Given the description of an element on the screen output the (x, y) to click on. 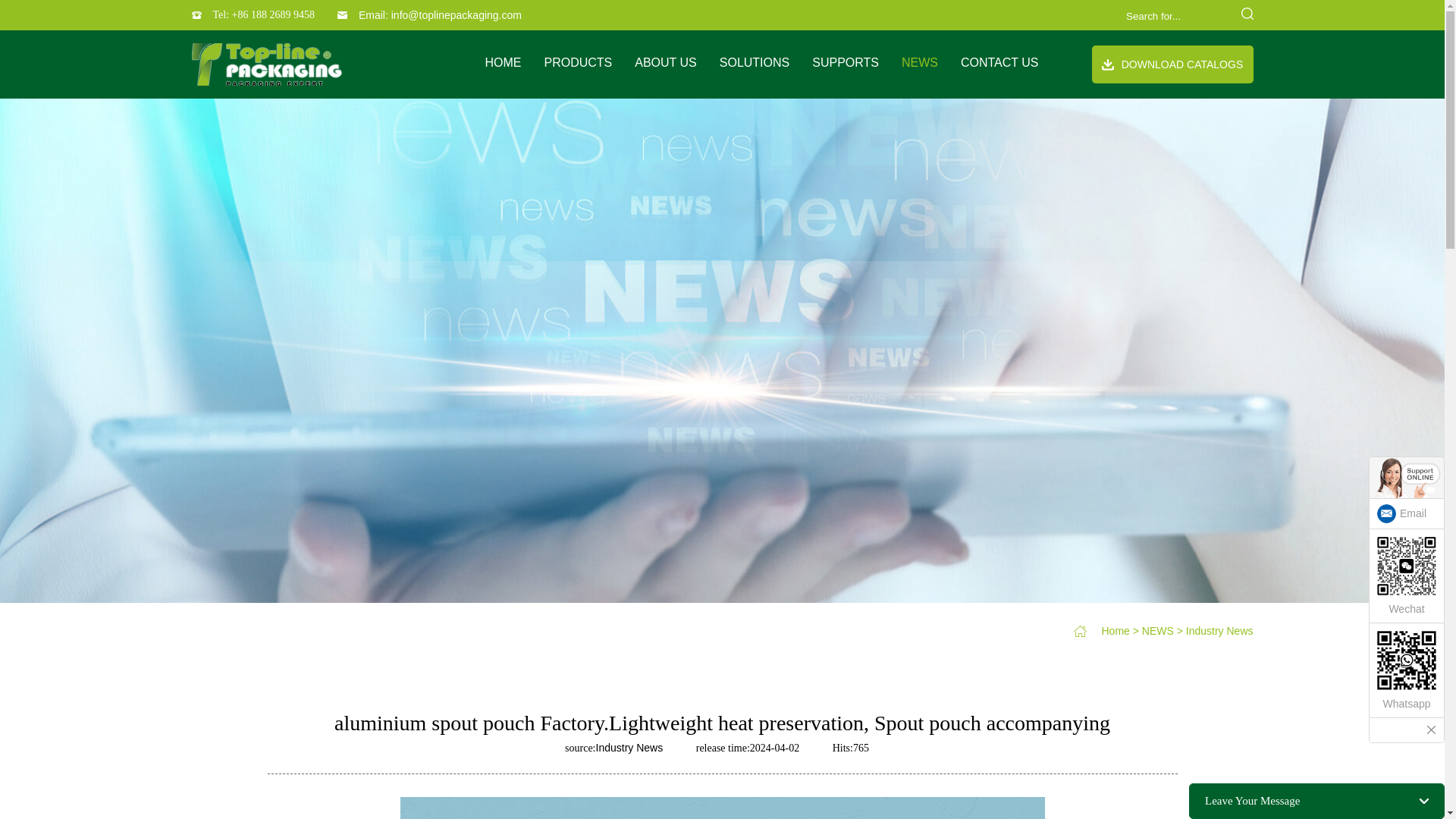
SOLUTIONS (754, 61)
PRODUCTS (577, 61)
DOWNLOAD CATALOGS (1172, 64)
CONTACT US (999, 61)
